Given the description of an element on the screen output the (x, y) to click on. 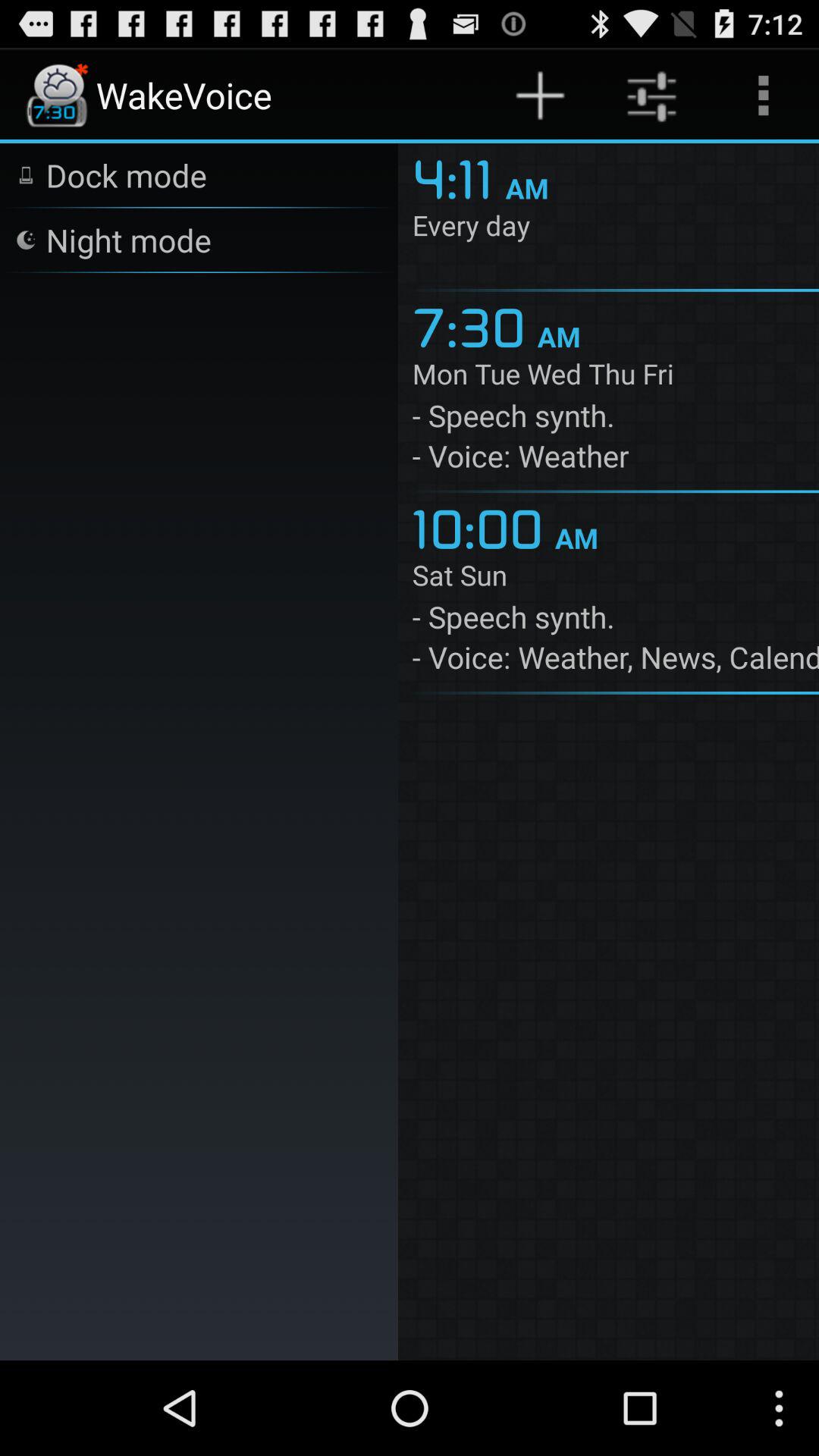
open the dock mode icon (126, 174)
